Given the description of an element on the screen output the (x, y) to click on. 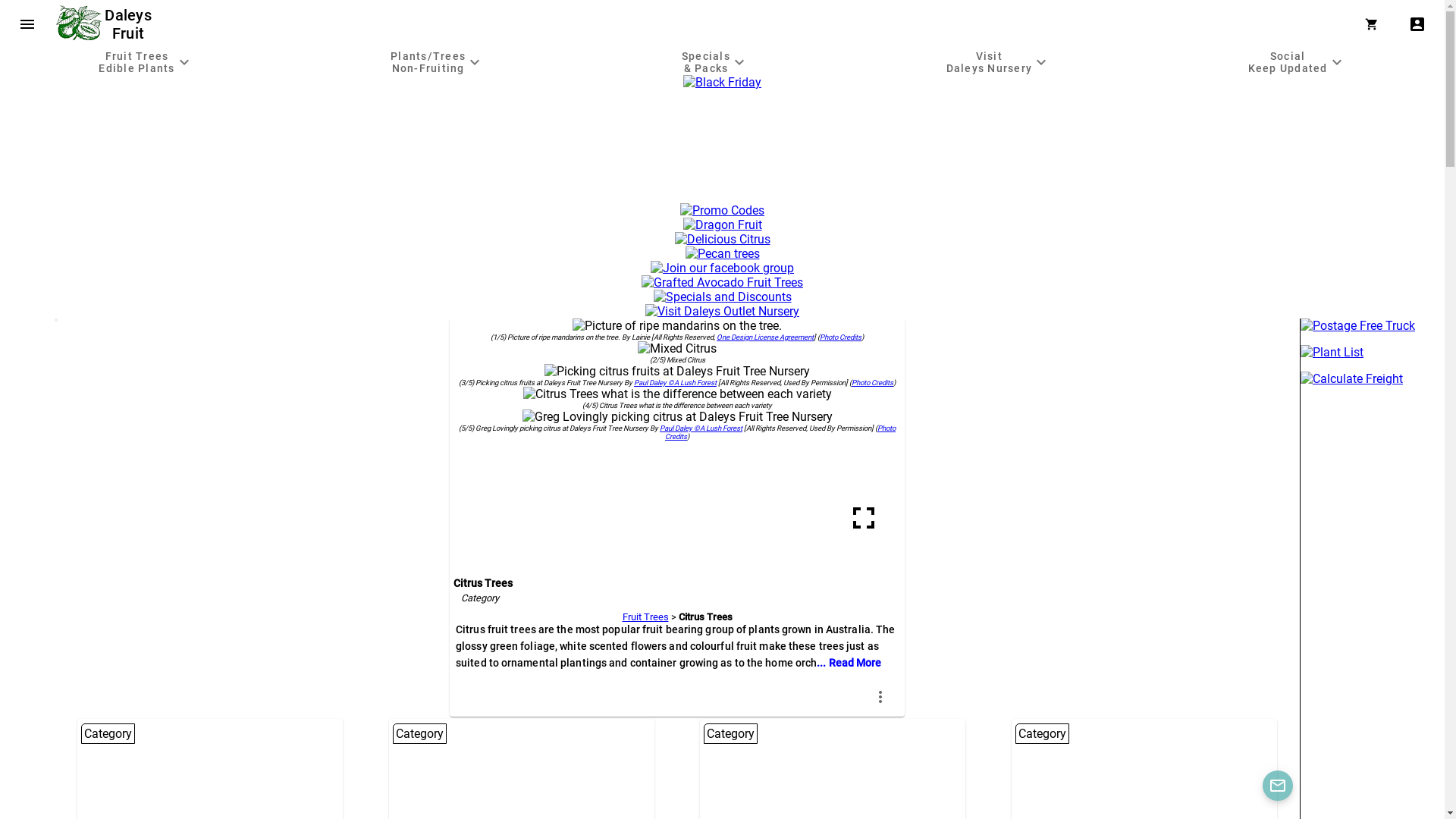
Every Plant Ready to Send Plants In Stock Element type: hover (1372, 352)
menu Element type: text (27, 24)
Fruit Trees
Edible Plants
expand_more Element type: text (145, 61)
Photo Credits Element type: text (780, 431)
... Read More Element type: text (848, 662)
Photo Credits Element type: text (872, 382)
Daleys Fruit Element type: text (129, 24)
account_box Element type: text (1417, 24)
Specials
& Packs
expand_more Element type: text (715, 61)
Fruit Trees Element type: text (644, 616)
email Element type: text (1277, 785)
Black Friday Element type: hover (722, 82)
more_vert Element type: text (880, 695)
Citrus Banner Element type: hover (722, 239)
Photo Credits Element type: text (840, 336)
In Stock Grafted Avocado Fruit Trees are now ready Element type: hover (722, 282)
Get an Irrigation Quote for Fruit Trees Element type: hover (722, 195)
Postage Free Fruit Trees Element type: hover (1372, 325)
Social
Keep Updated
expand_more Element type: text (1296, 61)
shopping_cart Element type: text (1374, 23)
Join our facebook group Element type: hover (721, 267)
Pecan trees Element type: hover (722, 253)
One Design License Agreement Element type: text (764, 336)
Plants/Trees
Non-Fruiting
expand_more Element type: text (437, 61)
Visit
Daleys Nursery
expand_more Element type: text (997, 61)
